Given the description of an element on the screen output the (x, y) to click on. 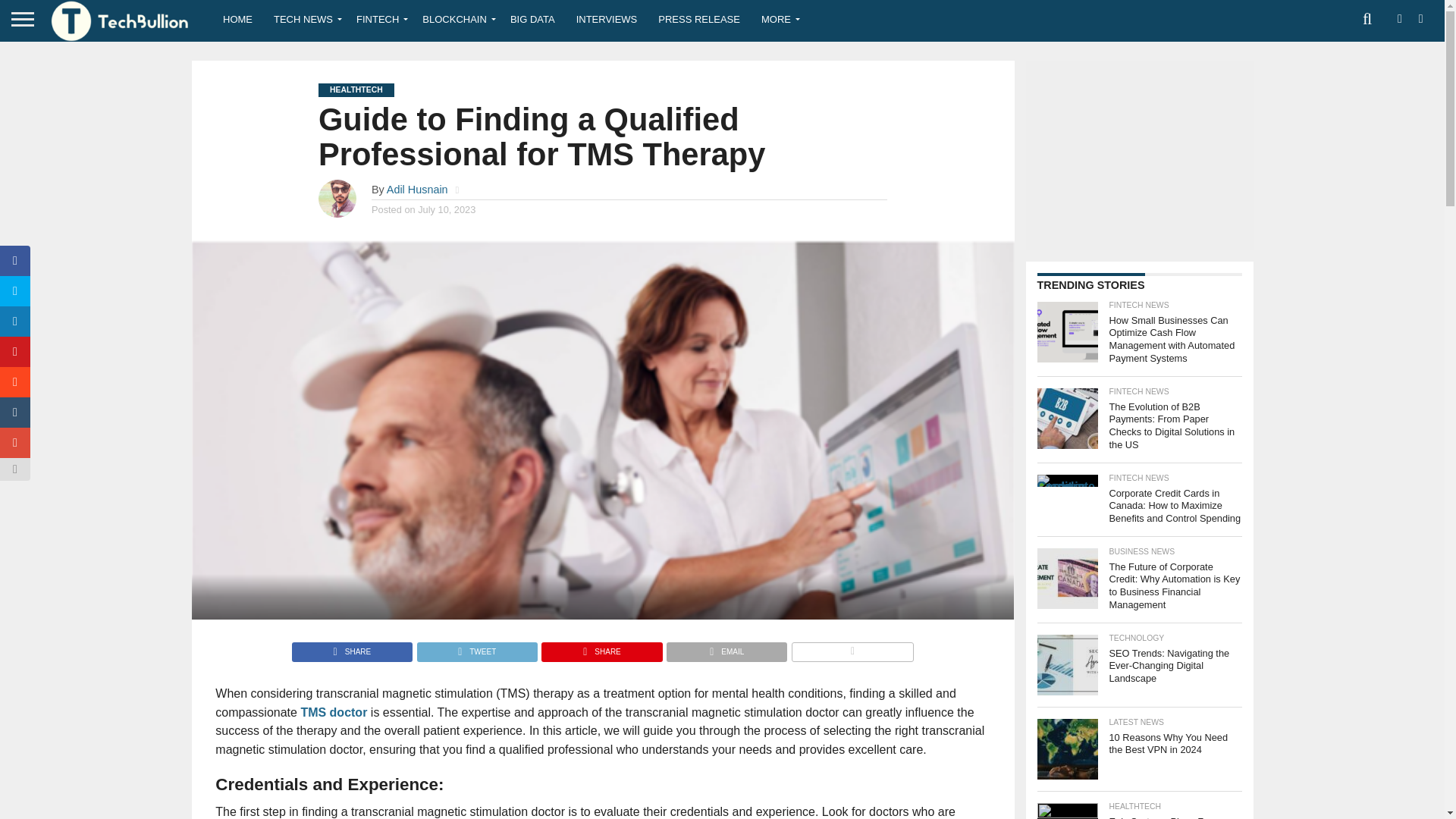
Tweet This Post (476, 647)
Posts by Adil Husnain (417, 189)
Pin This Post (601, 647)
Share on Facebook (352, 647)
